Given the description of an element on the screen output the (x, y) to click on. 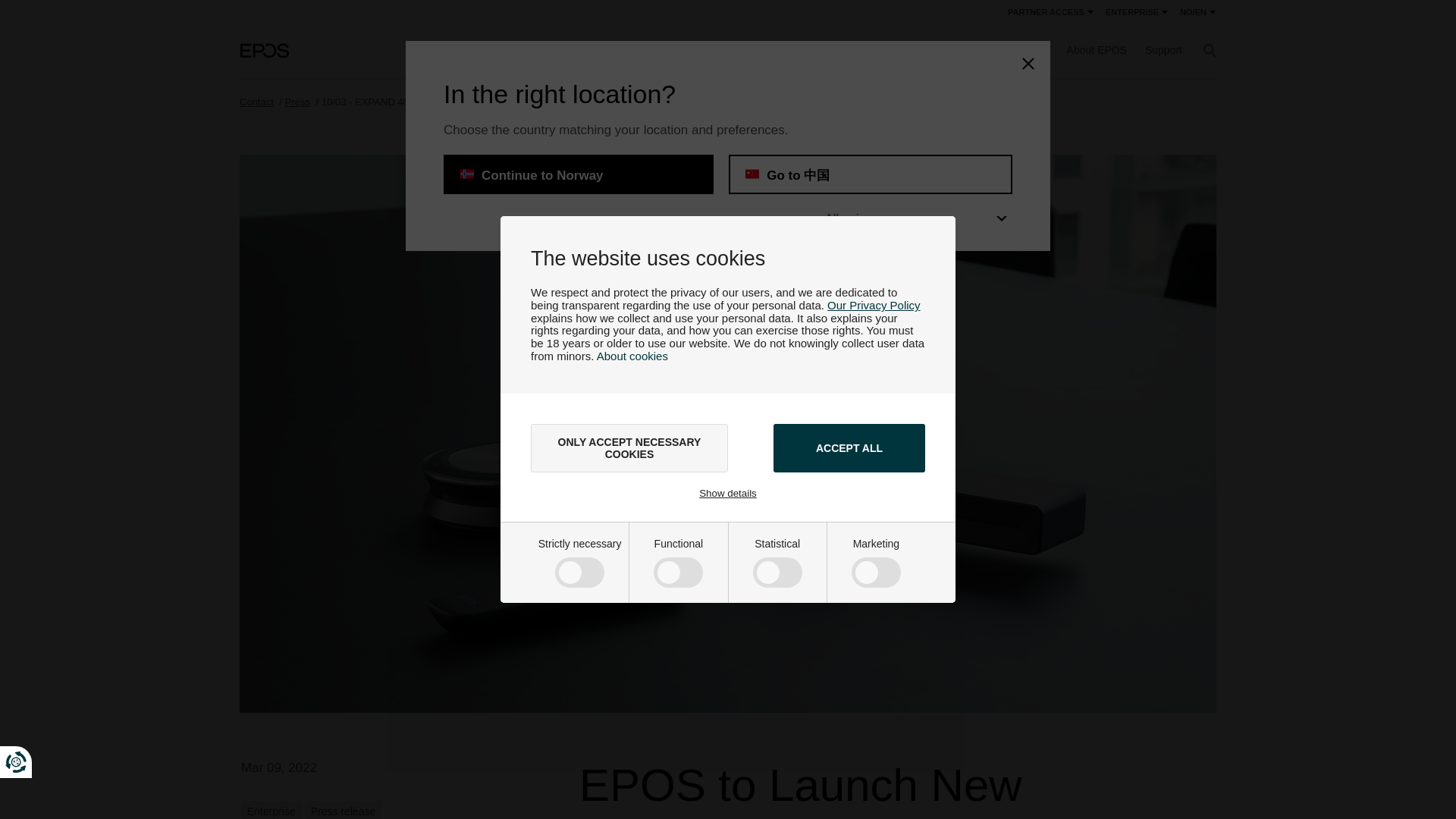
Our Privacy Policy (873, 305)
About cookies (632, 355)
ACCEPT ALL (848, 448)
ONLY ACCEPT NECESSARY COOKIES (629, 448)
Show details (727, 492)
